Given the description of an element on the screen output the (x, y) to click on. 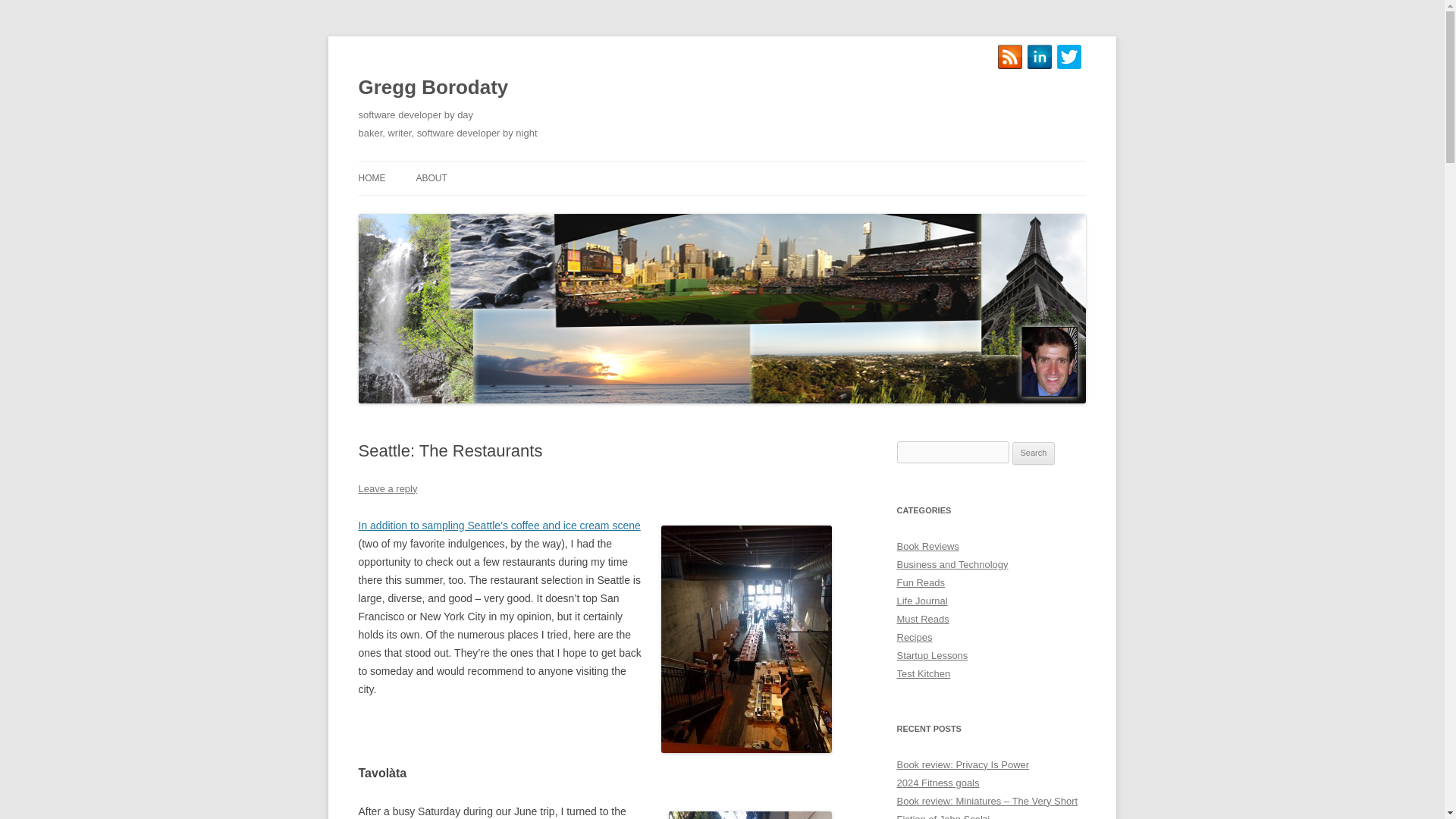
ABOUT (430, 177)
Twitter (1069, 56)
Search (1033, 453)
Leave a reply (387, 488)
LinkedIn (1039, 56)
RSS (1010, 56)
Skip to content (375, 176)
Skip to content (375, 176)
Gregg Borodaty (433, 87)
Gregg Borodaty (433, 87)
